Given the description of an element on the screen output the (x, y) to click on. 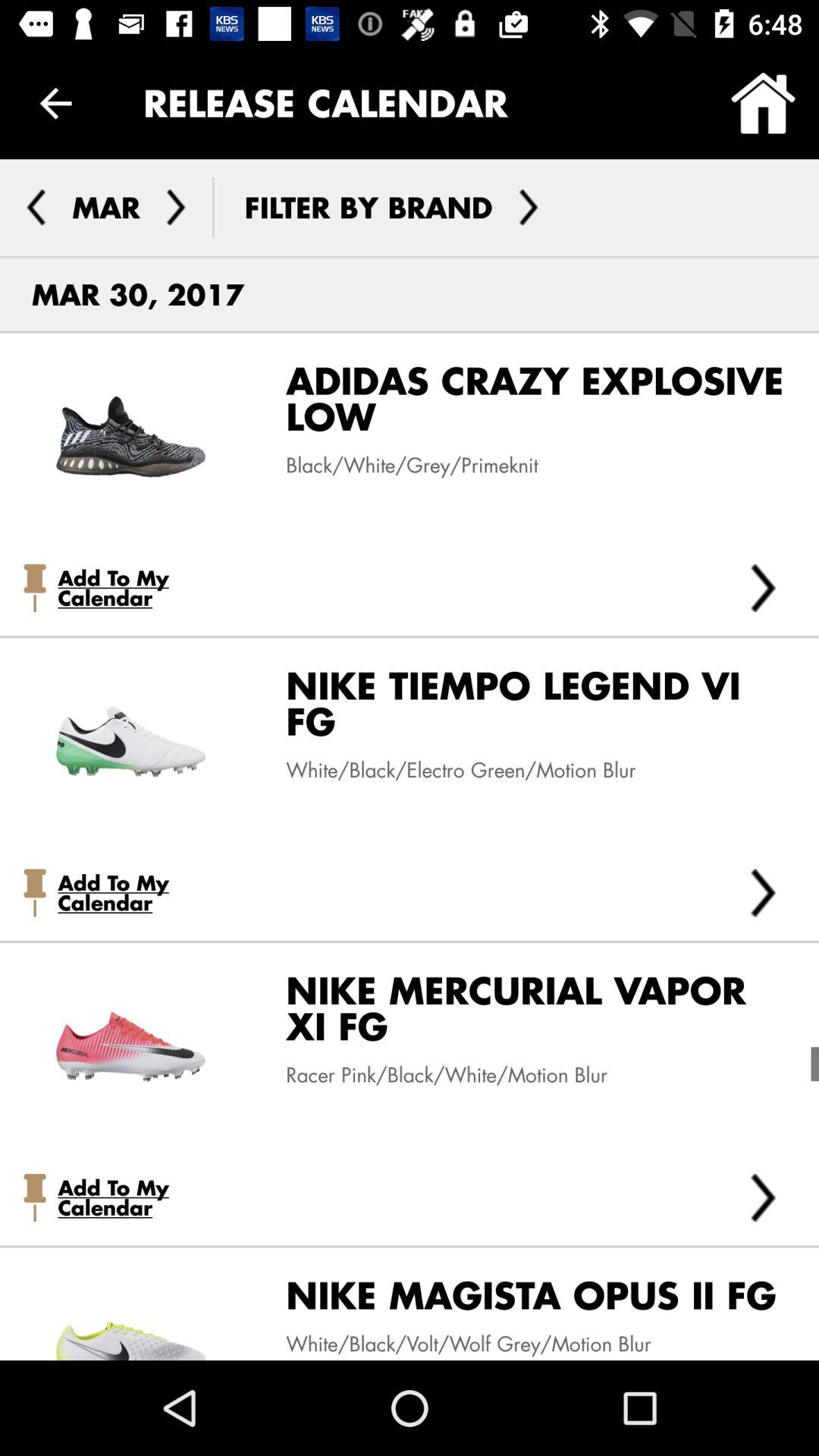
open icon to the right of the add to my icon (763, 587)
